Given the description of an element on the screen output the (x, y) to click on. 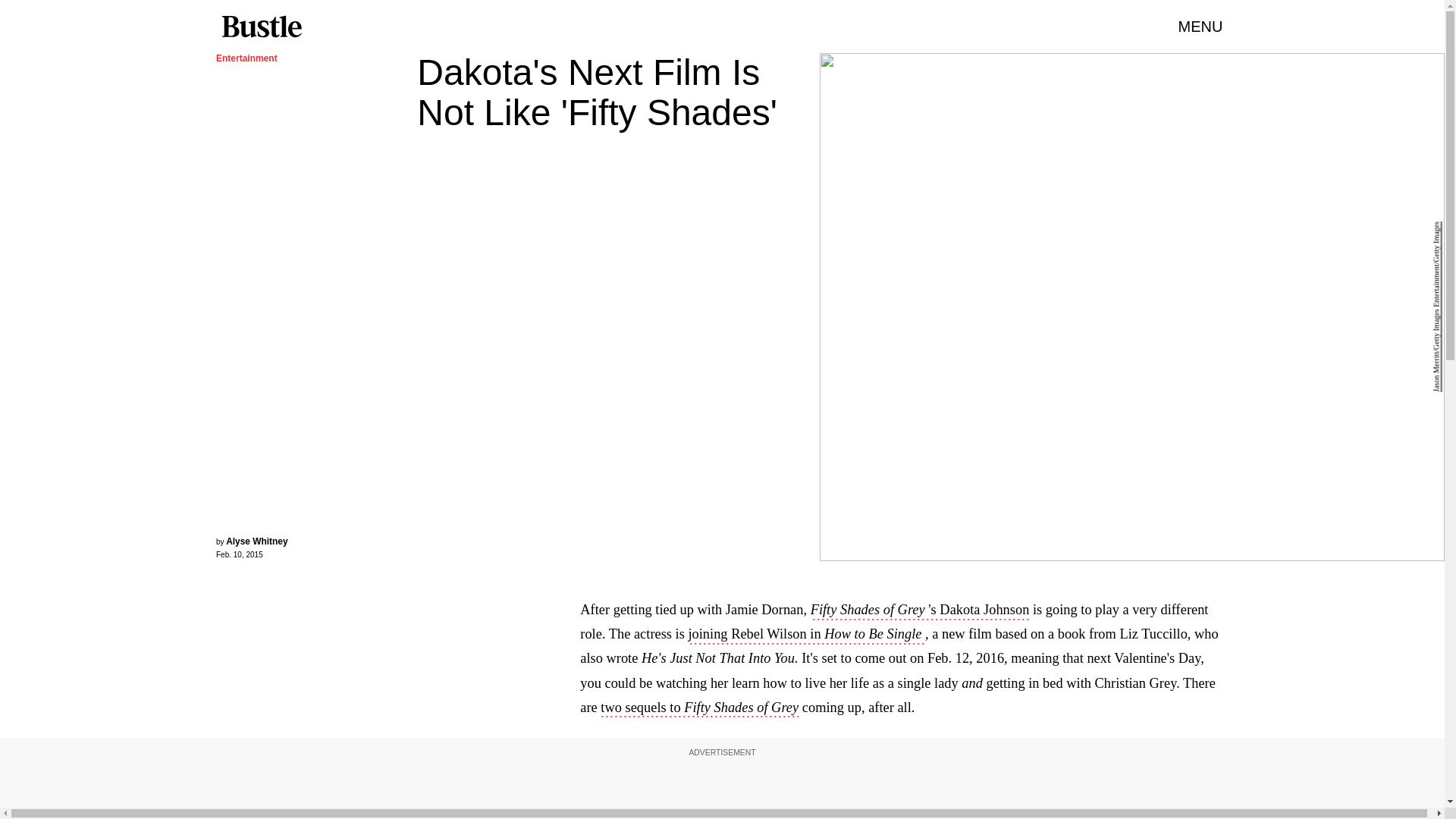
Fifty Shades of Grey 's Dakota Johnson (919, 610)
Bustle (261, 26)
joining Rebel Wilson in How to Be Single (805, 635)
two sequels to Fifty Shades of Grey (698, 709)
